Given the description of an element on the screen output the (x, y) to click on. 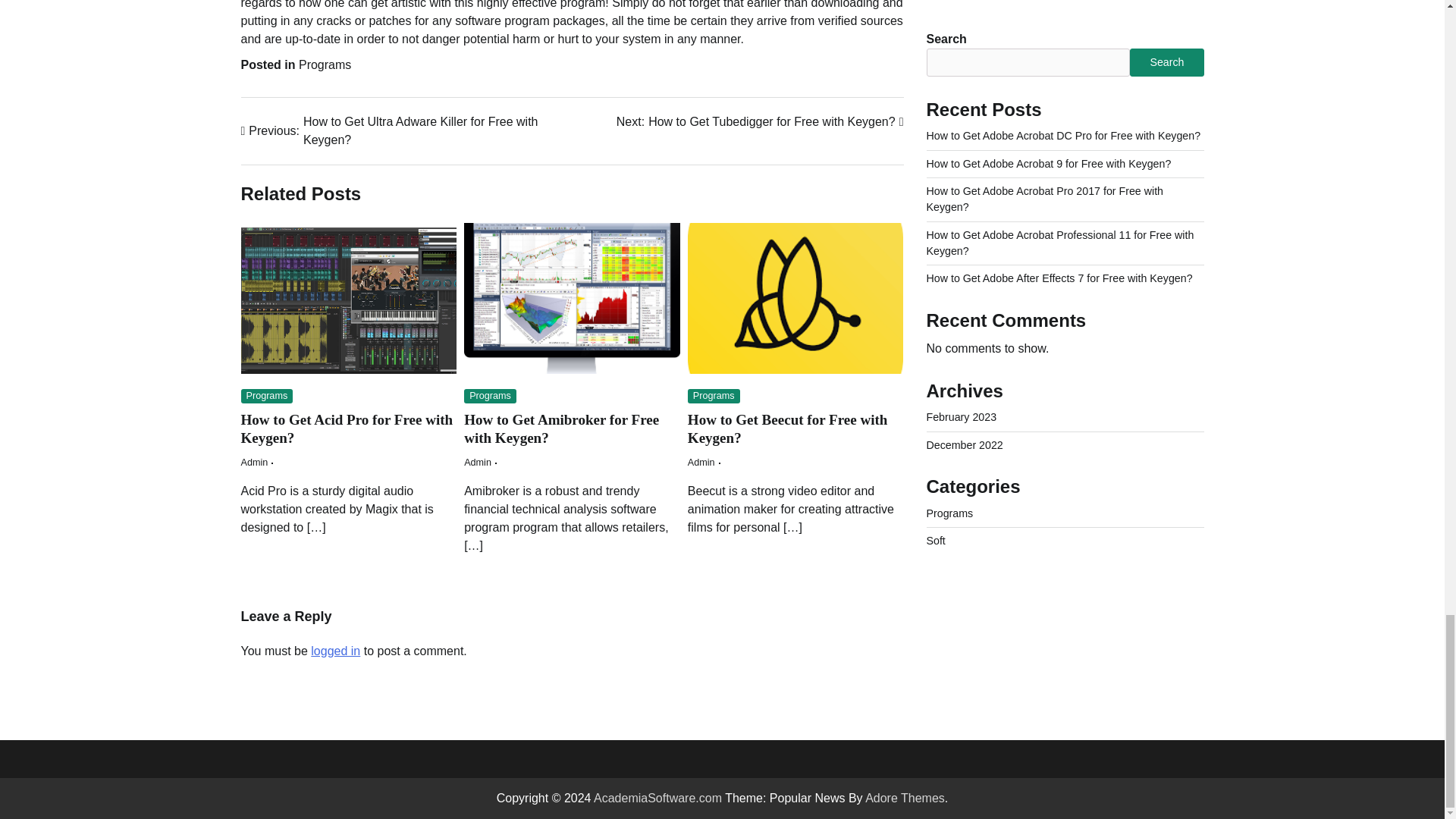
Admin (700, 462)
Admin (478, 462)
Programs (759, 122)
Admin (324, 64)
Programs (254, 462)
How to Get Acid Pro for Free with Keygen? (713, 396)
Adore Themes (346, 428)
logged in (904, 797)
How to Get Beecut for Free with Keygen? (335, 650)
